Given the description of an element on the screen output the (x, y) to click on. 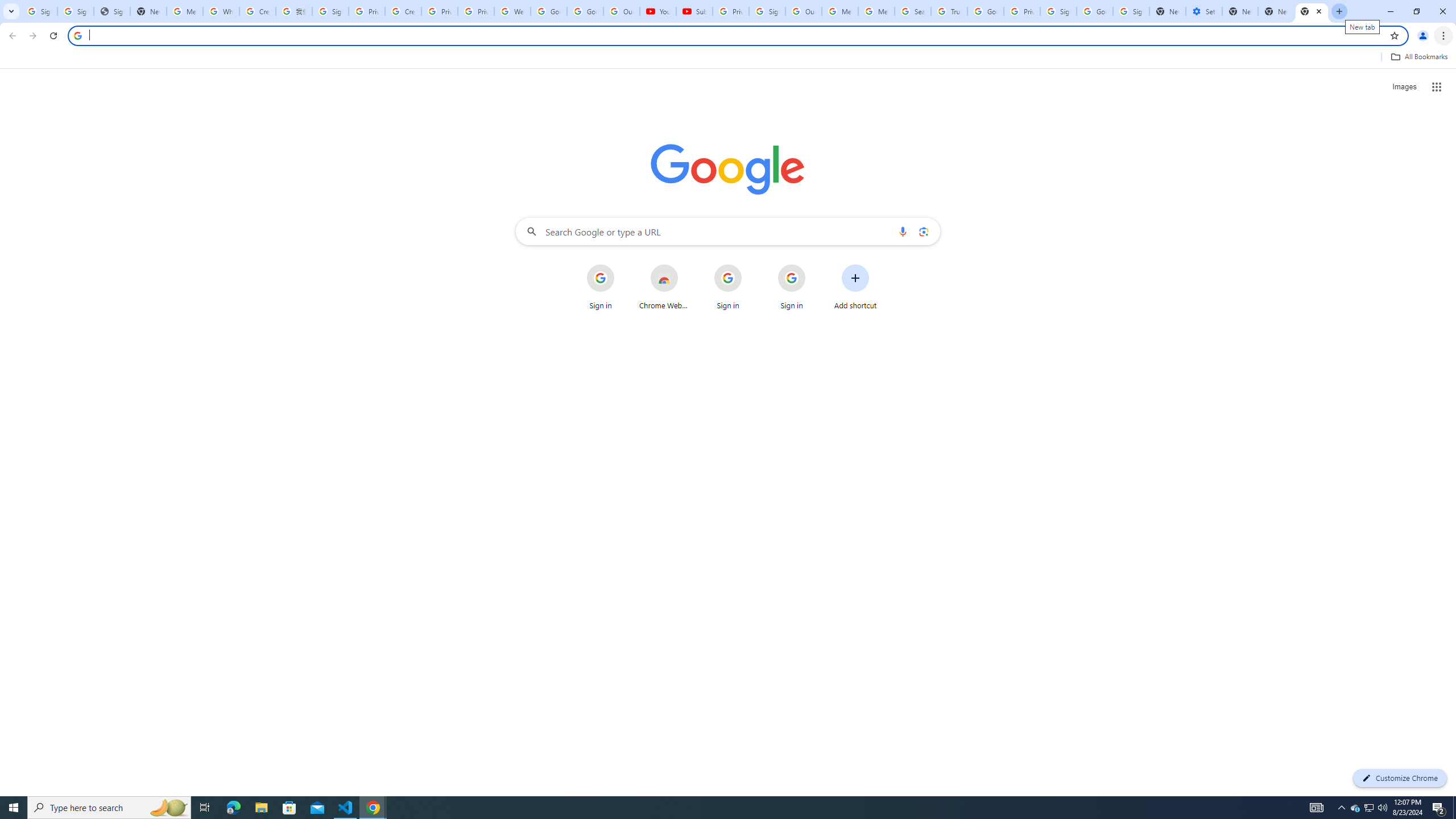
Sign in - Google Accounts (1058, 11)
